Given the description of an element on the screen output the (x, y) to click on. 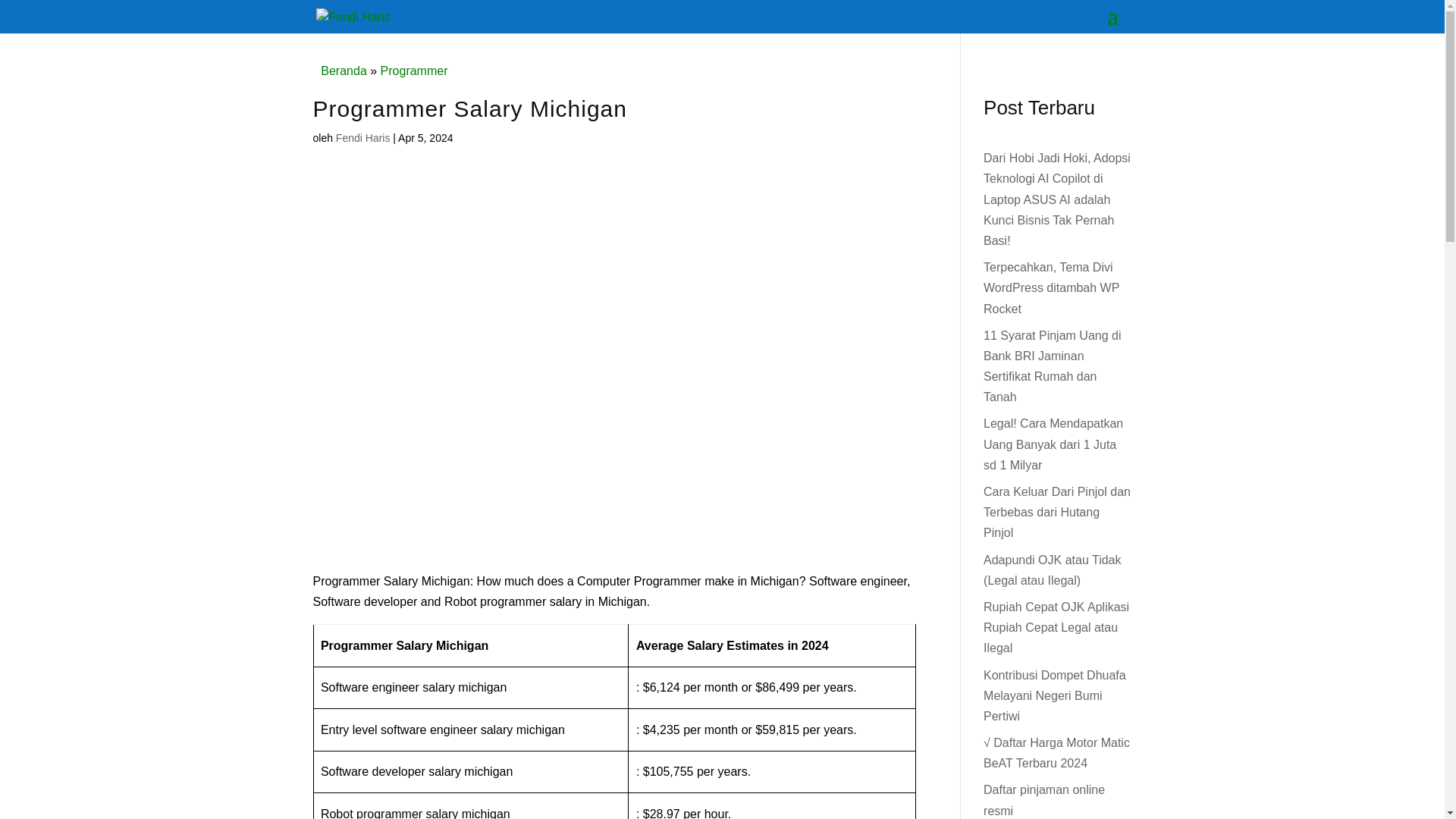
Legal! Cara Mendapatkan Uang Banyak dari 1 Juta sd 1 Milyar (1053, 443)
Beranda (343, 70)
Kontribusi Dompet Dhuafa Melayani Negeri Bumi Pertiwi (1054, 695)
Terpecahkan, Tema Divi WordPress ditambah WP Rocket (1051, 287)
Daftar pinjaman online resmi (1044, 799)
Rupiah Cepat OJK Aplikasi Rupiah Cepat Legal atau Ilegal (1056, 627)
Fendi Haris (363, 137)
Programmer (414, 70)
Cara Keluar Dari Pinjol dan Terbebas dari Hutang Pinjol (1057, 511)
Postingan oleh Fendi Haris (363, 137)
